Given the description of an element on the screen output the (x, y) to click on. 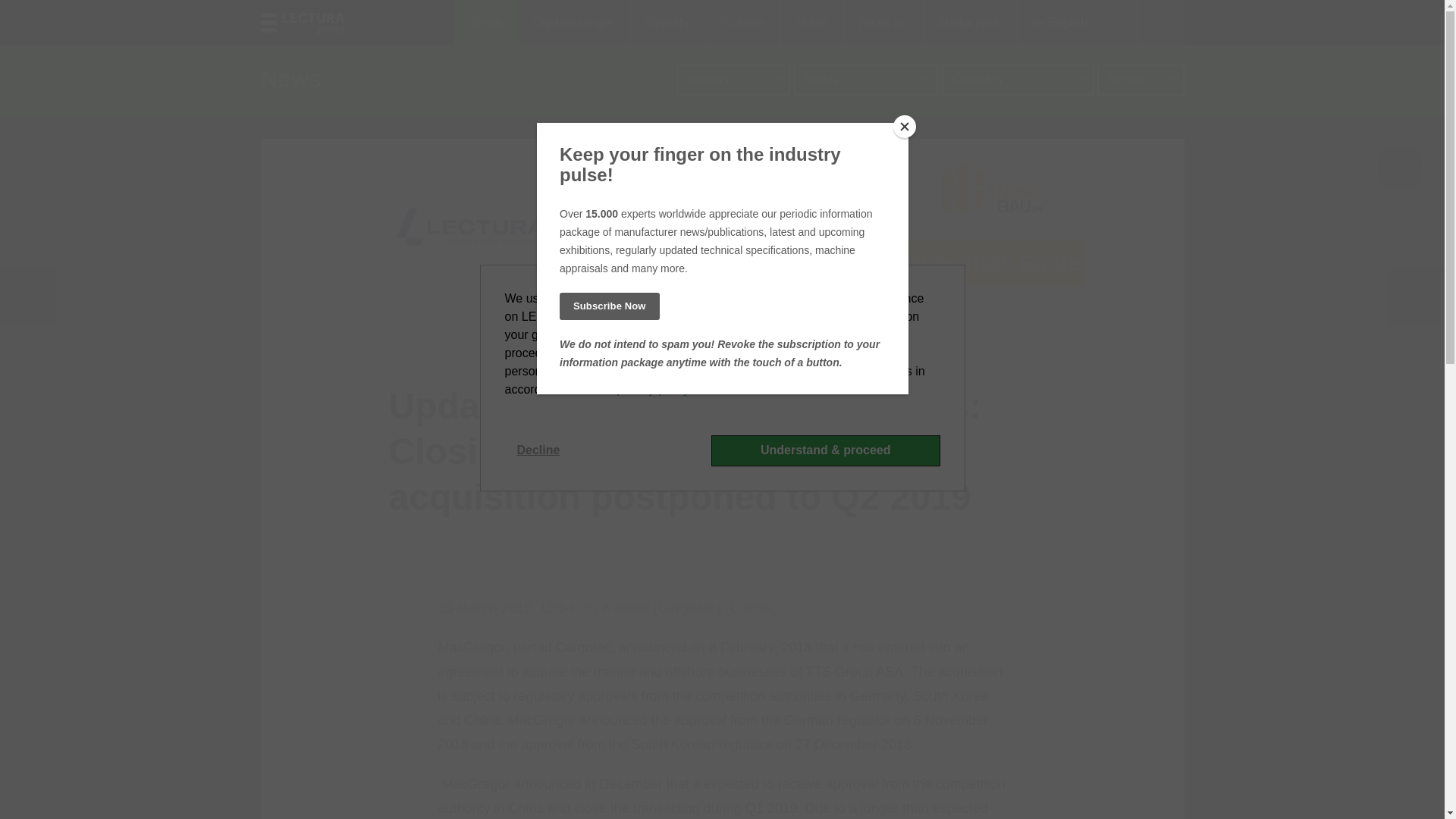
About us (882, 22)
Pictures (740, 22)
Video (810, 22)
News (485, 22)
English (1076, 22)
DigiMessenger (572, 22)
Media pack (968, 22)
Reports (665, 22)
